Given the description of an element on the screen output the (x, y) to click on. 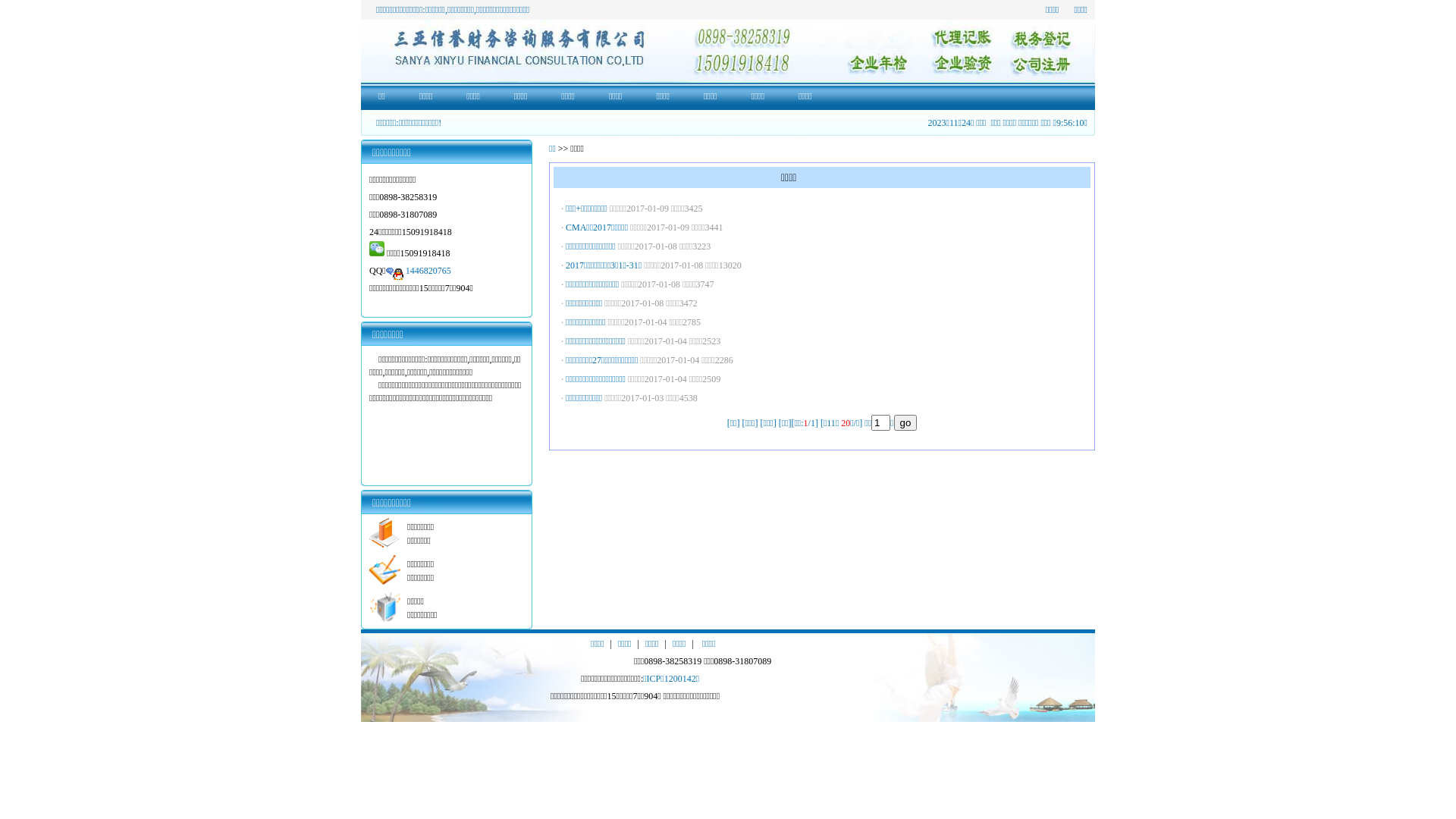
go Element type: text (904, 421)
1446820765 Element type: text (428, 270)
